Given the description of an element on the screen output the (x, y) to click on. 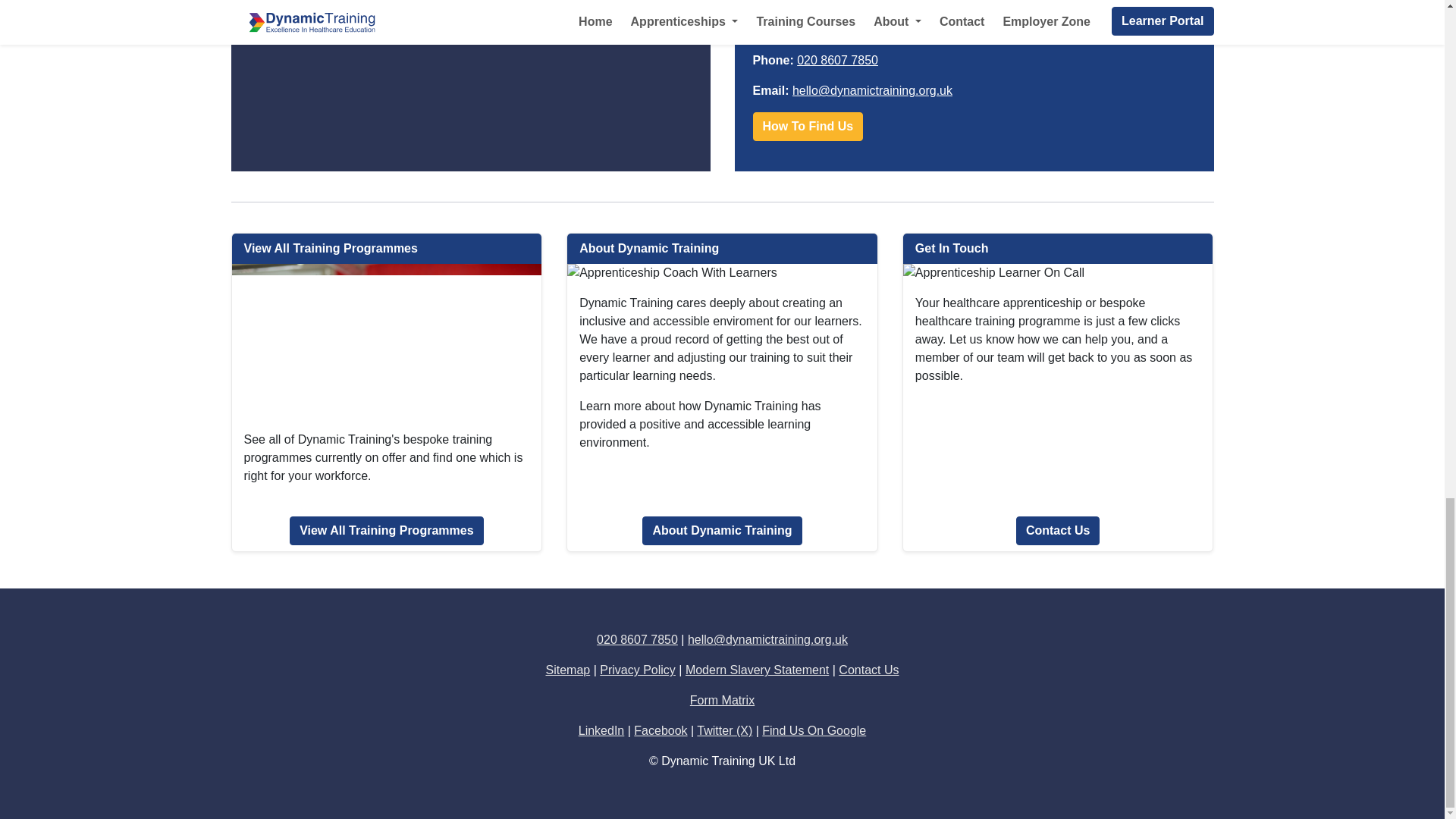
Find Us (807, 126)
020 8607 7850 (637, 639)
Form Matrix (722, 699)
Modern Slavery Statement (756, 669)
View All Training Programmes (386, 530)
Find Us On Google (813, 730)
Contact Us (868, 669)
Privacy Policy (637, 669)
How To Find Us (807, 126)
About Dynamic Training (722, 530)
